Given the description of an element on the screen output the (x, y) to click on. 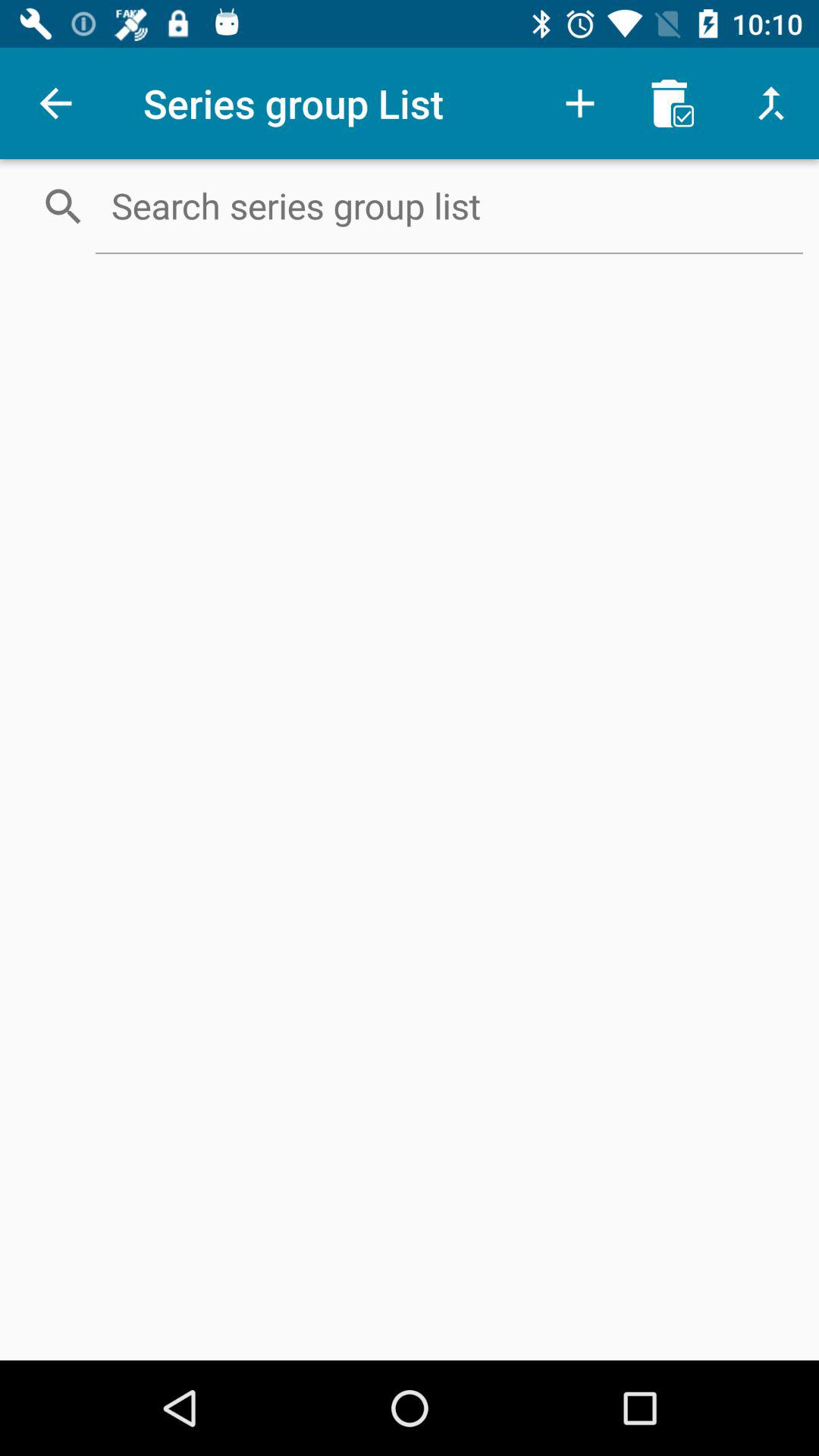
open search (449, 205)
